Given the description of an element on the screen output the (x, y) to click on. 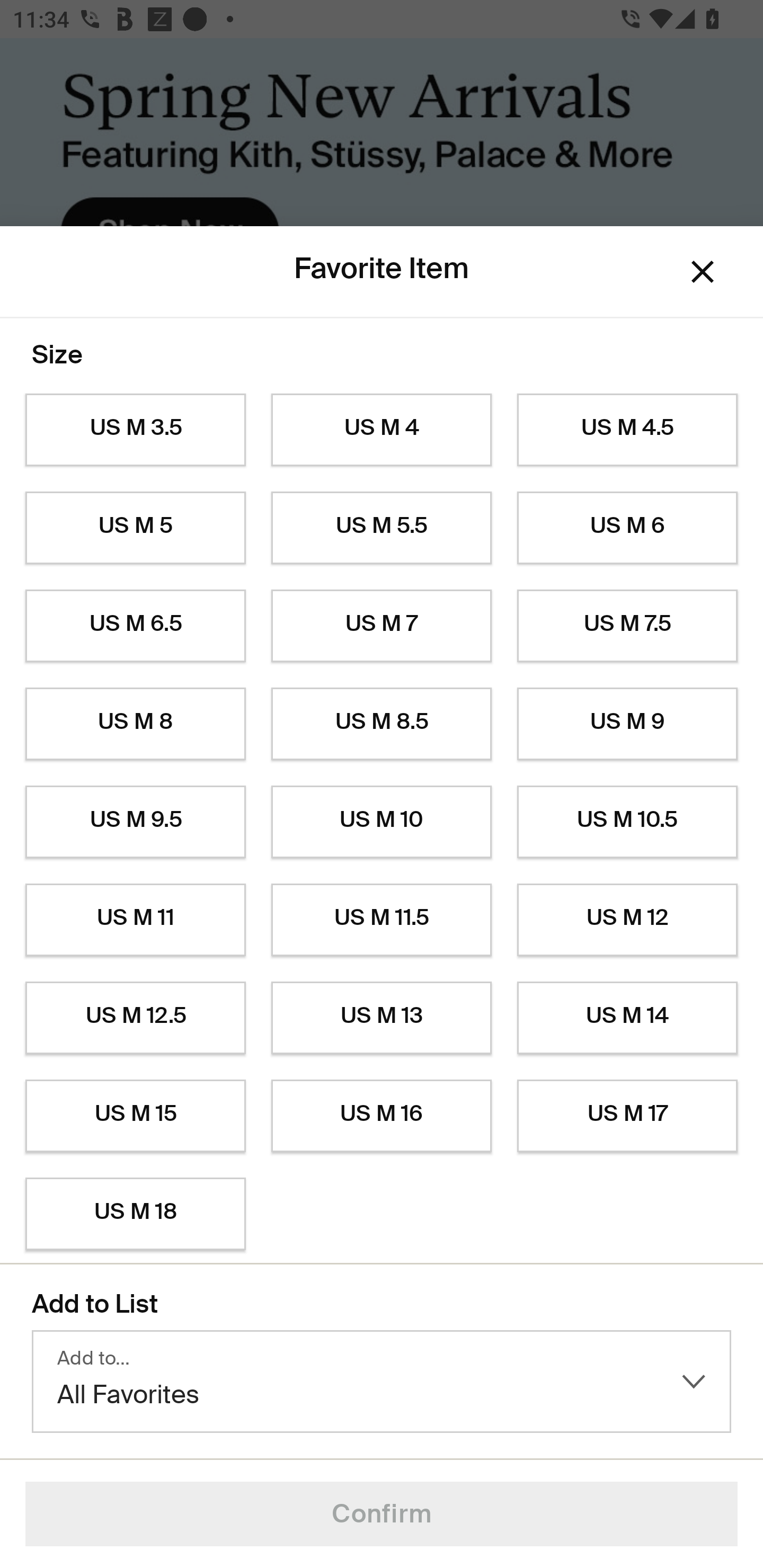
Dismiss (702, 271)
US M 3.5 (135, 430)
US M 4 (381, 430)
US M 4.5 (627, 430)
US M 5 (135, 527)
US M 5.5 (381, 527)
US M 6 (627, 527)
US M 6.5 (135, 626)
US M 7 (381, 626)
US M 7.5 (627, 626)
US M 8 (135, 724)
US M 8.5 (381, 724)
US M 9 (627, 724)
US M 9.5 (135, 822)
US M 10 (381, 822)
US M 10.5 (627, 822)
US M 11 (135, 919)
US M 11.5 (381, 919)
US M 12 (627, 919)
US M 12.5 (135, 1018)
US M 13 (381, 1018)
US M 14 (627, 1018)
US M 15 (135, 1116)
US M 16 (381, 1116)
US M 17 (627, 1116)
US M 18 (135, 1214)
Add to… All Favorites (381, 1381)
Confirm (381, 1513)
